Given the description of an element on the screen output the (x, y) to click on. 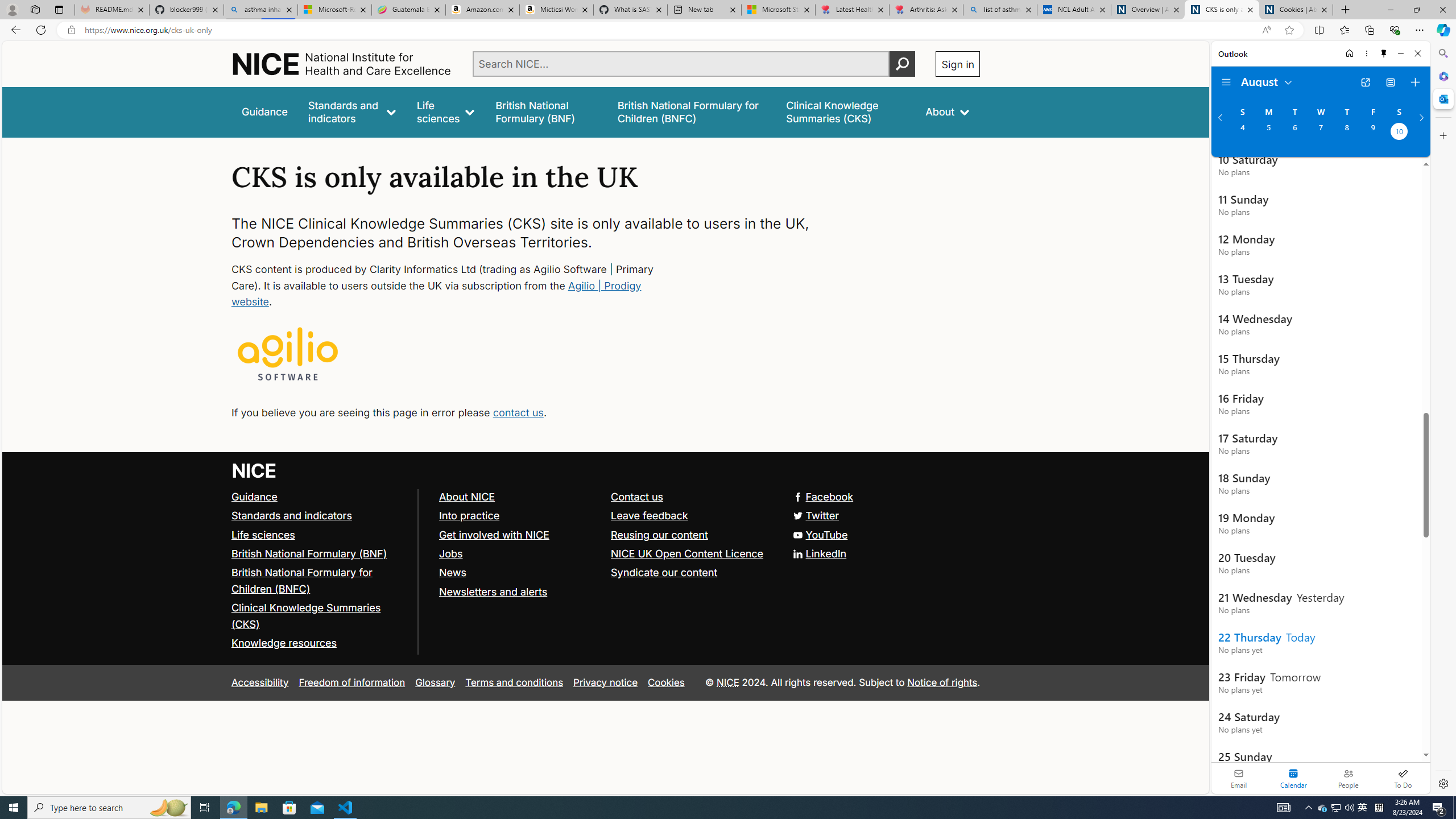
Personal Profile (12, 9)
More options (1366, 53)
Cookies | About | NICE (1295, 9)
Microsoft 365 (1442, 76)
Thursday, August 8, 2024.  (1346, 132)
Workspaces (34, 9)
Close Customize pane (1442, 135)
Reusing our content (692, 534)
